Given the description of an element on the screen output the (x, y) to click on. 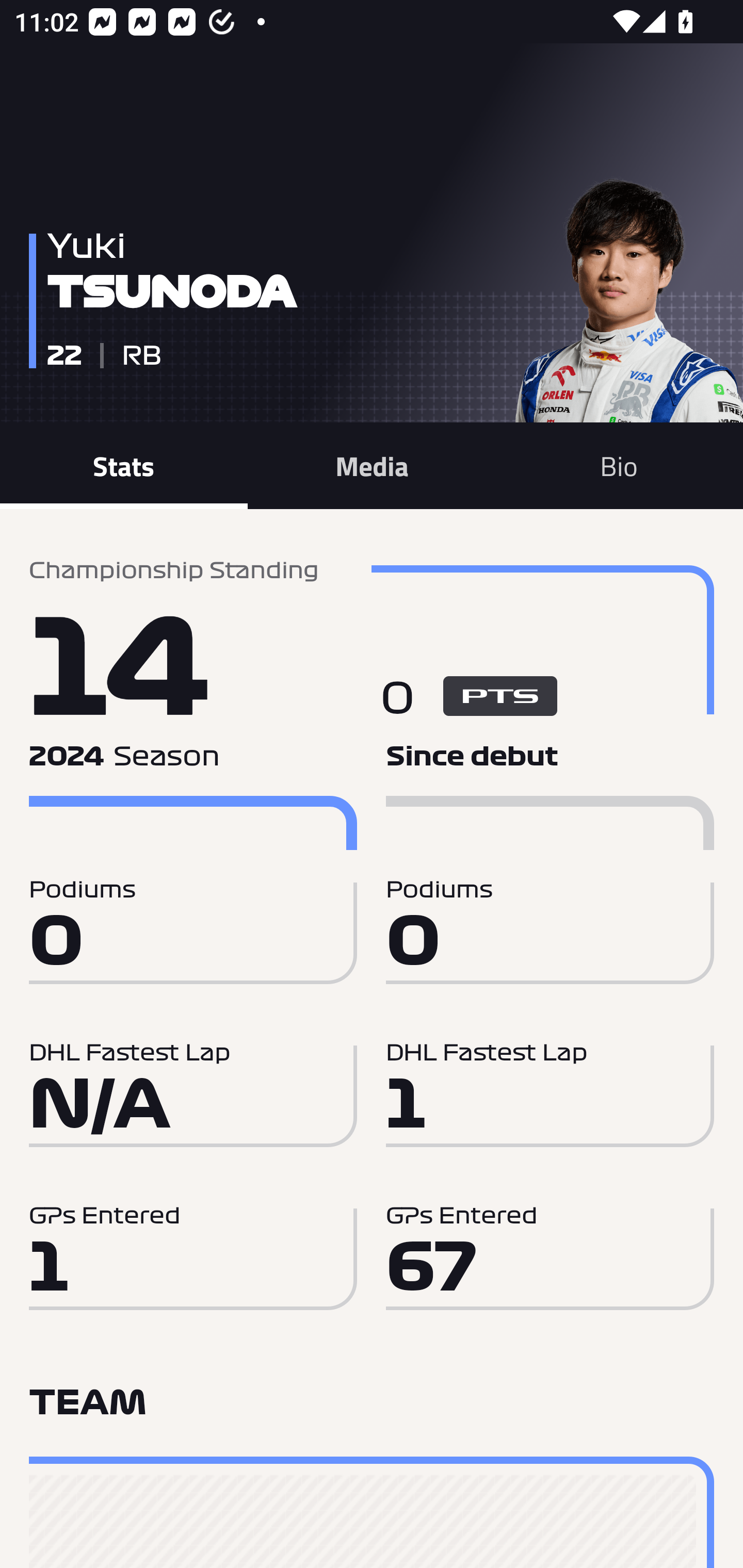
Media (371, 465)
Bio (619, 465)
